Given the description of an element on the screen output the (x, y) to click on. 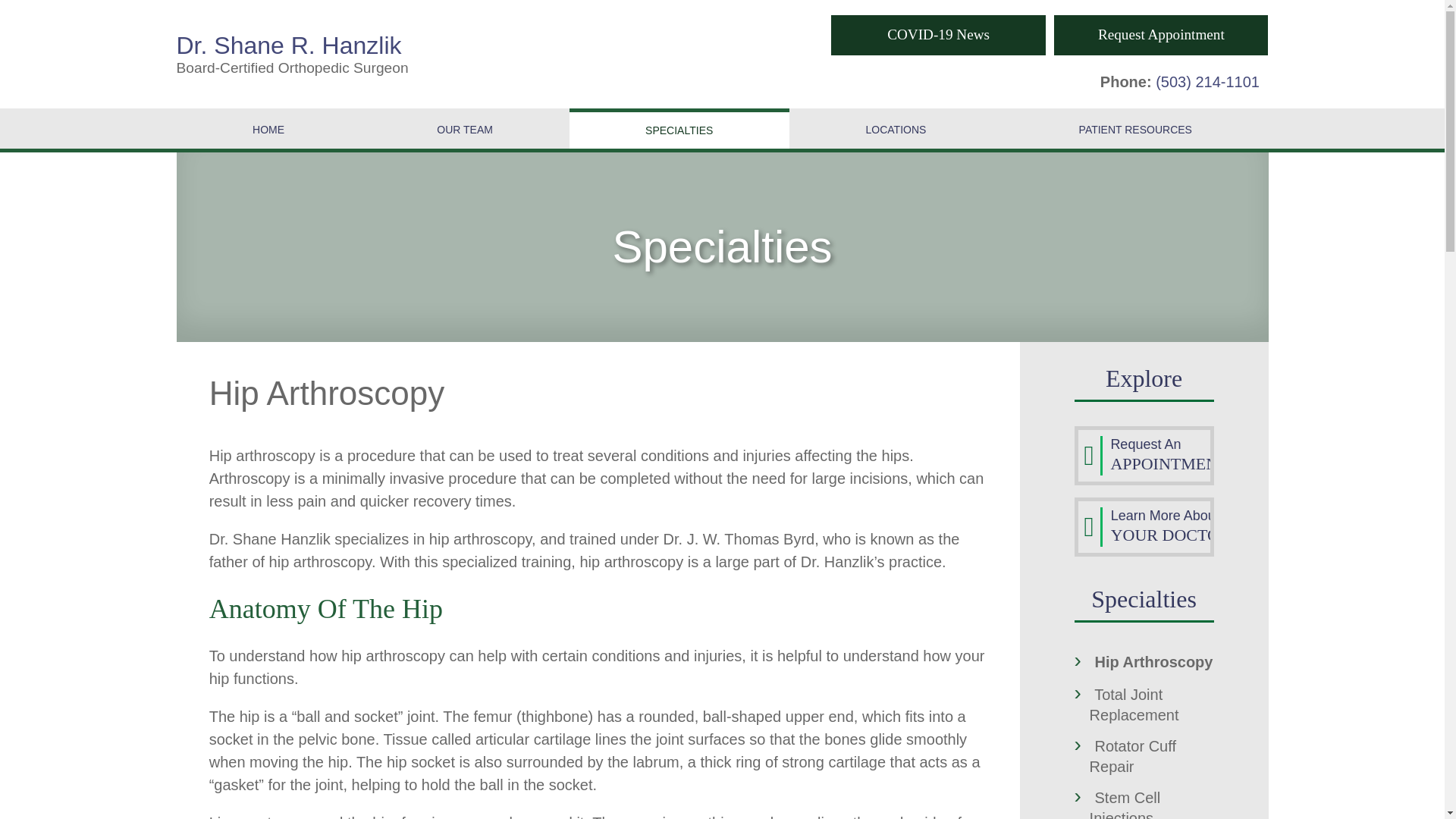
PATIENT RESOURCES (1135, 128)
HOME (267, 128)
Hip Arthroscopy (393, 54)
OUR TEAM (1153, 661)
Stem Cell Injections (465, 128)
SPECIALTIES (1124, 804)
LOCATIONS (679, 130)
Total Joint Replacement (896, 128)
Request Appointment (1134, 704)
